Given the description of an element on the screen output the (x, y) to click on. 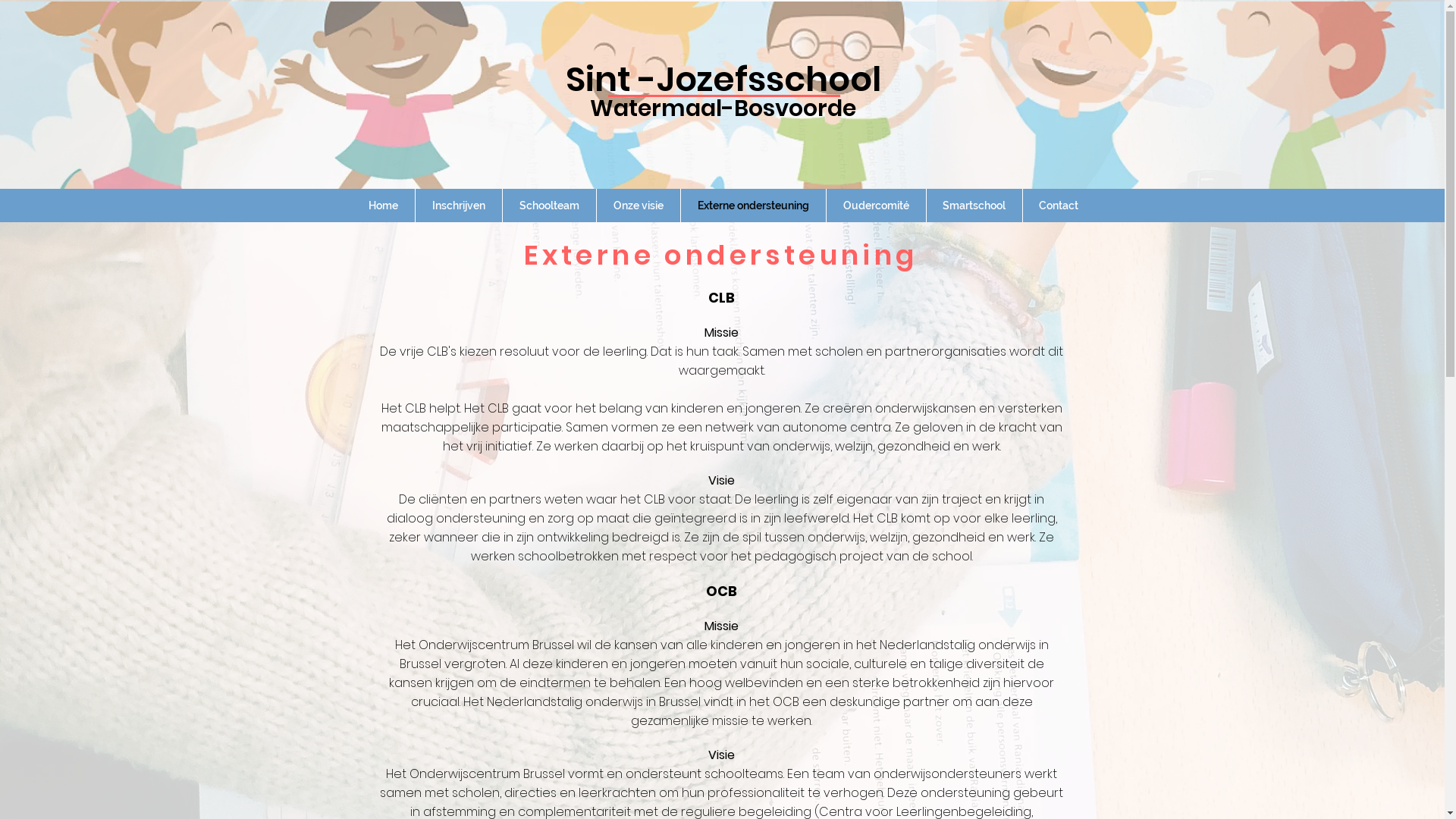
Contact Element type: text (1058, 205)
Onze visie Element type: text (637, 205)
Smartschool Element type: text (974, 205)
Home Element type: text (382, 205)
Schoolteam Element type: text (548, 205)
Externe ondersteuning Element type: text (752, 205)
Inschrijven Element type: text (458, 205)
